Given the description of an element on the screen output the (x, y) to click on. 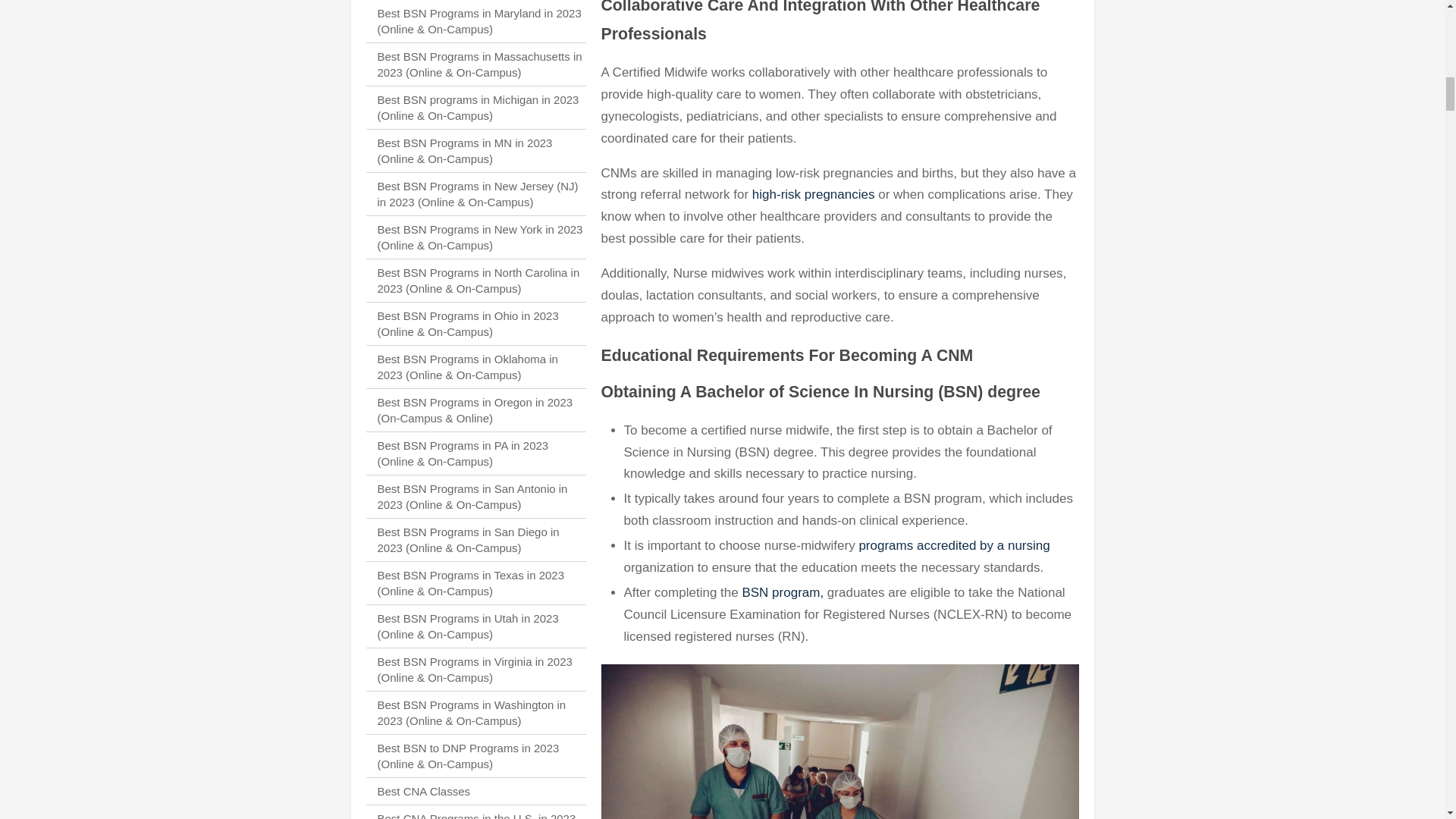
BSN program, (781, 592)
high-risk pregnancies (813, 194)
programs accredited by a nursing (954, 545)
